Given the description of an element on the screen output the (x, y) to click on. 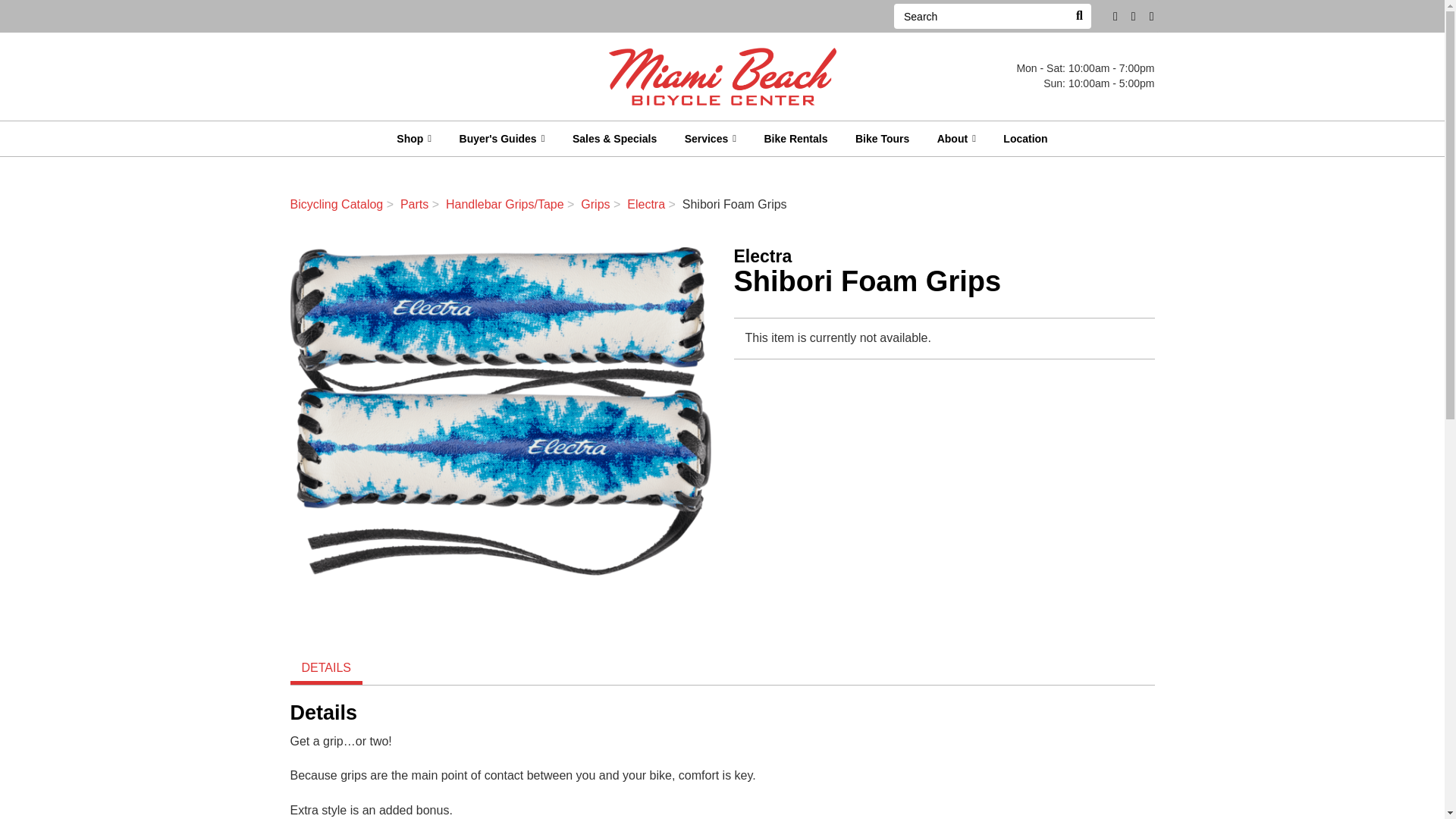
Shop (413, 138)
Search (980, 16)
Search (1078, 16)
Miami Beach Bicycle Center Home Page (721, 75)
